Given the description of an element on the screen output the (x, y) to click on. 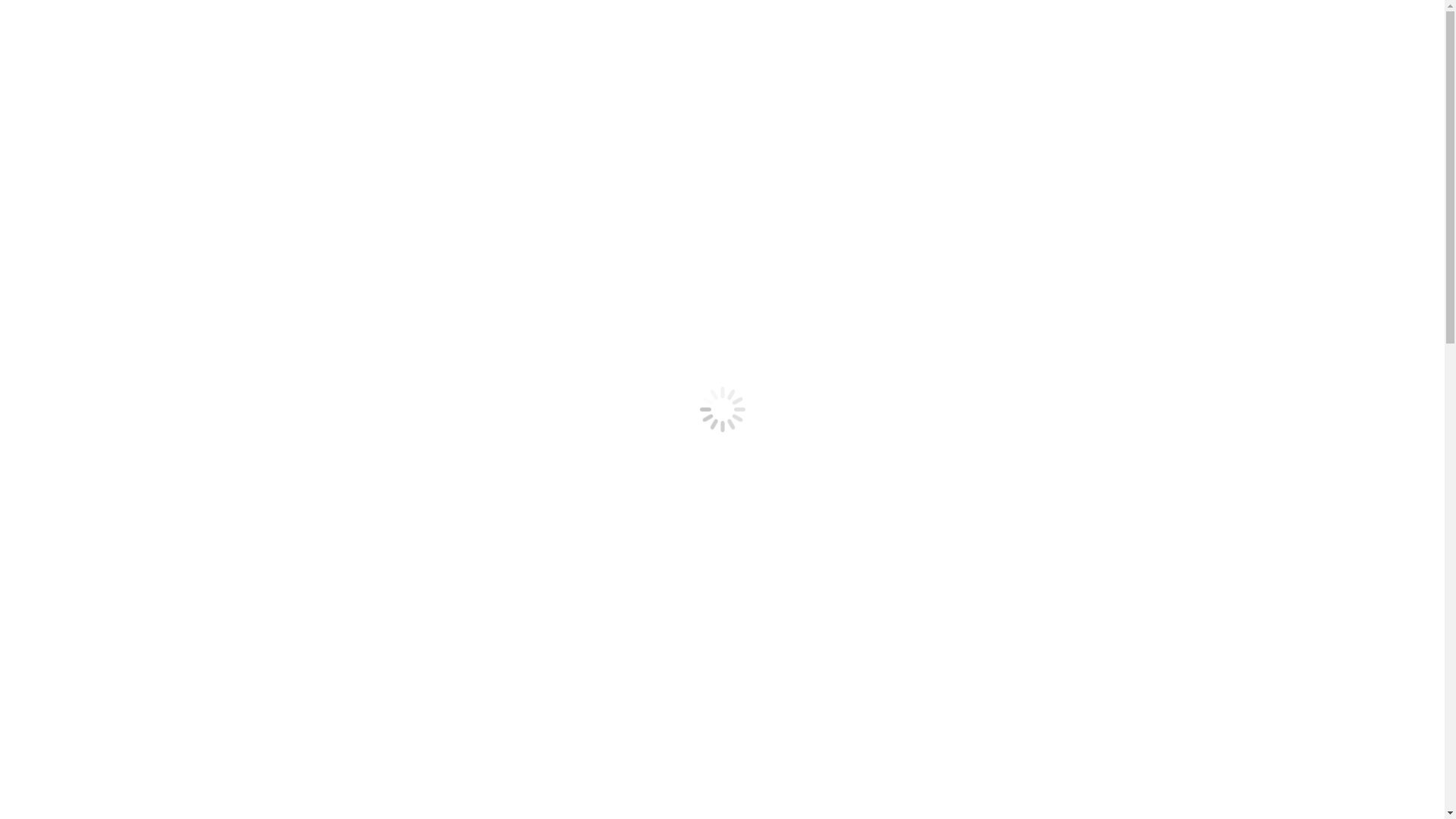
Home Element type: text (681, 185)
Our Work Element type: text (914, 59)
Marketing Materials Element type: text (581, 59)
FAQs Element type: text (1131, 10)
About us Element type: text (1038, 10)
Business Cards Element type: text (449, 59)
Design Service Element type: text (815, 59)
Contact Element type: text (1088, 10)
Large Format Element type: text (706, 59)
Go! Element type: text (23, 16)
Blog Element type: text (982, 59)
SPC Element type: text (1167, 10)
$0.00
0 Element type: text (1122, 59)
My Account Element type: text (978, 10)
